Given the description of an element on the screen output the (x, y) to click on. 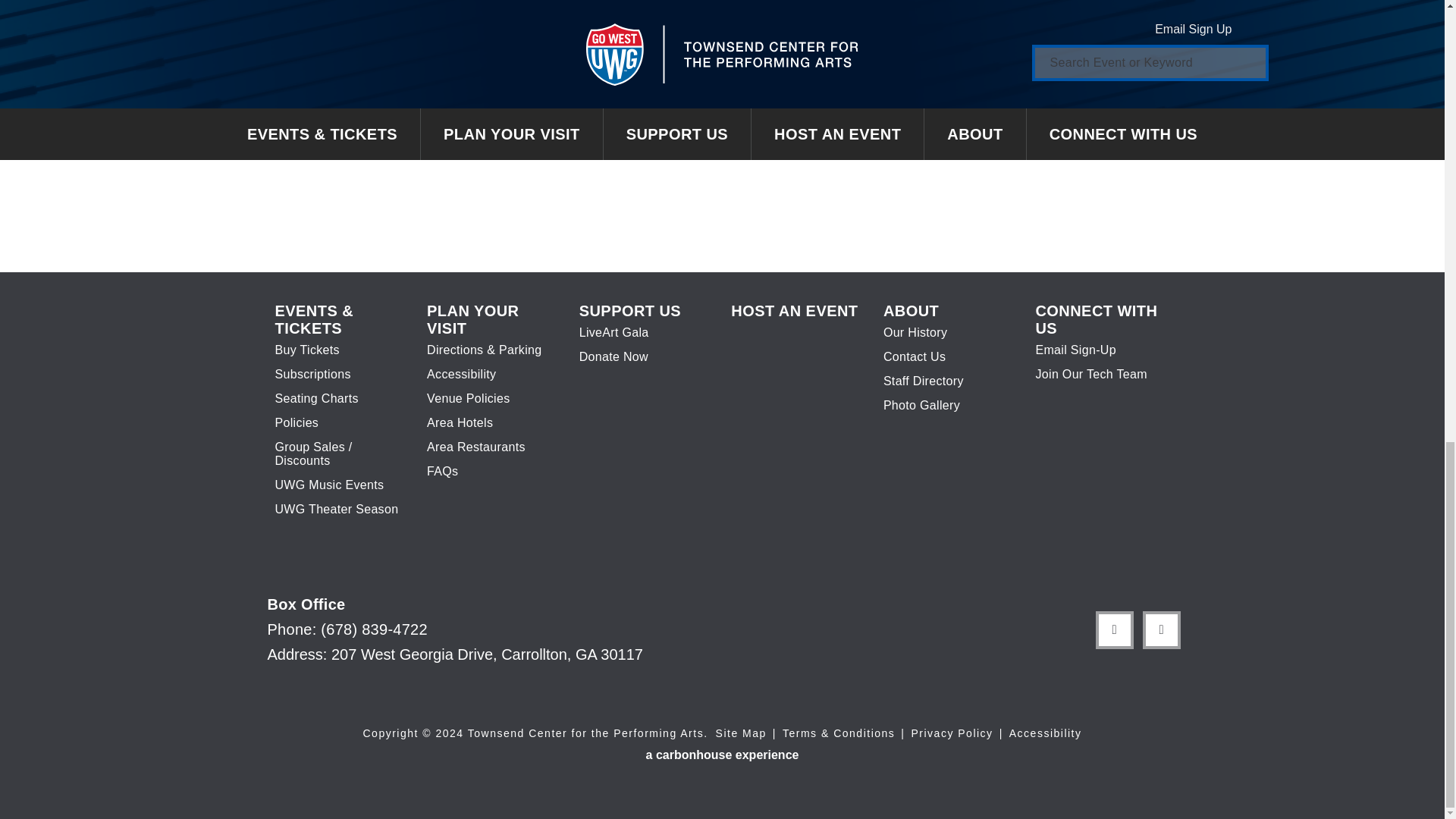
Instagram (1160, 630)
a carbonhouse experience (722, 755)
Facebook (1113, 630)
